Given the description of an element on the screen output the (x, y) to click on. 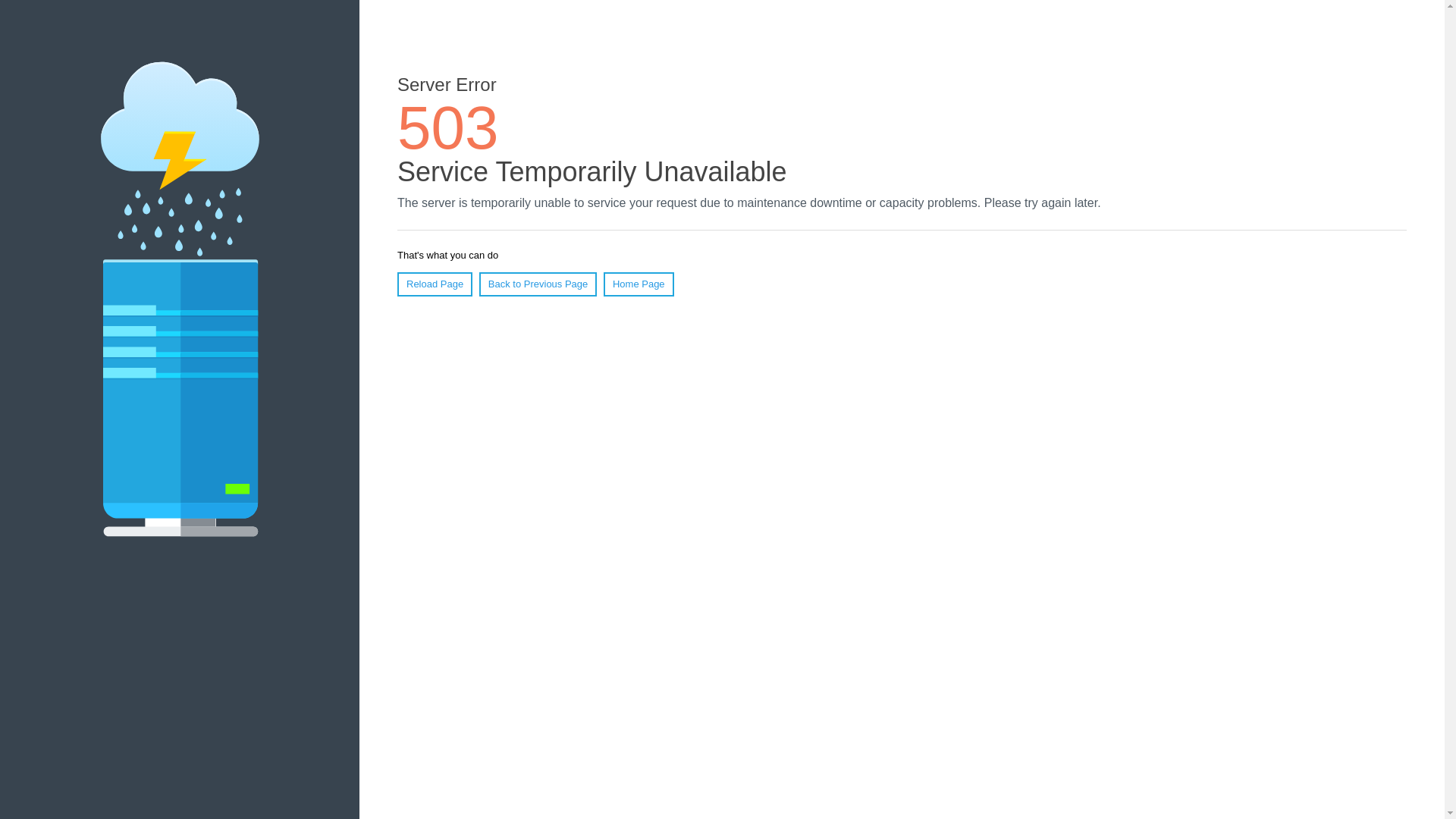
Reload Page Element type: text (434, 284)
Back to Previous Page Element type: text (538, 284)
Home Page Element type: text (638, 284)
